Given the description of an element on the screen output the (x, y) to click on. 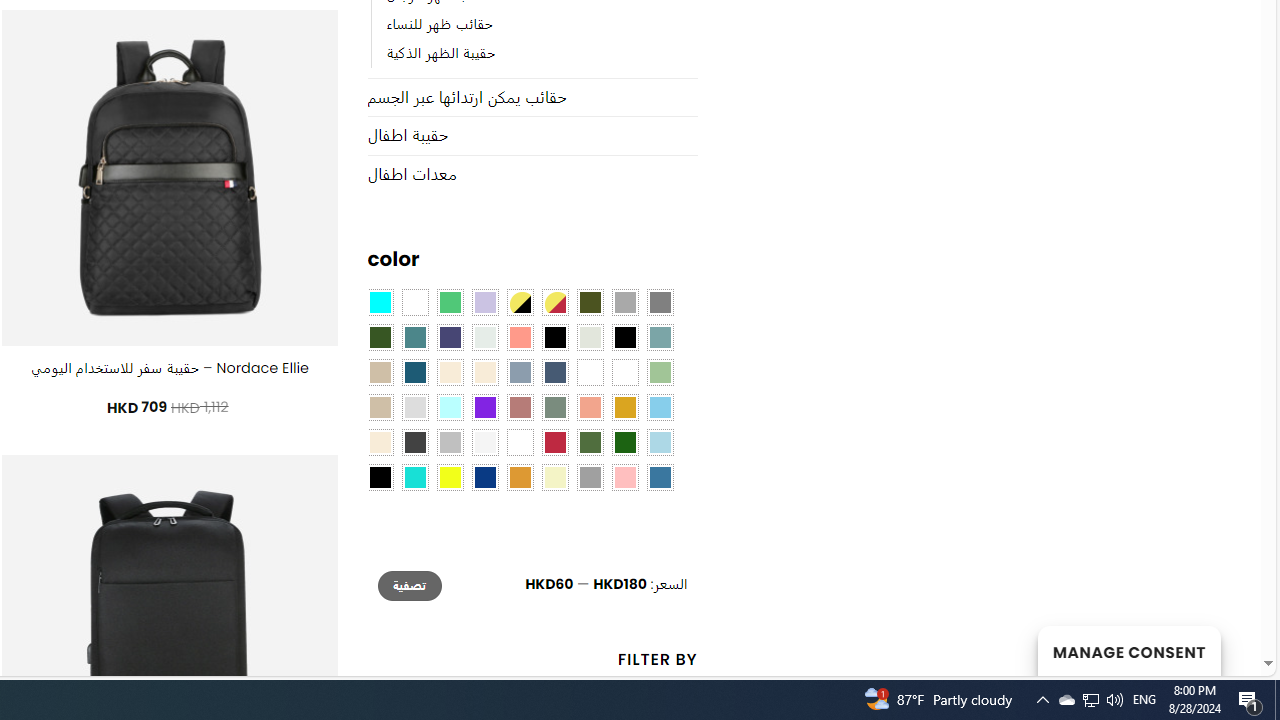
Dull Nickle (484, 337)
Khaki (624, 372)
Blue Sage (659, 337)
Hale Navy (554, 372)
Black-Brown (624, 337)
Dusty Blue (519, 372)
Light Purple (484, 303)
